Given the description of an element on the screen output the (x, y) to click on. 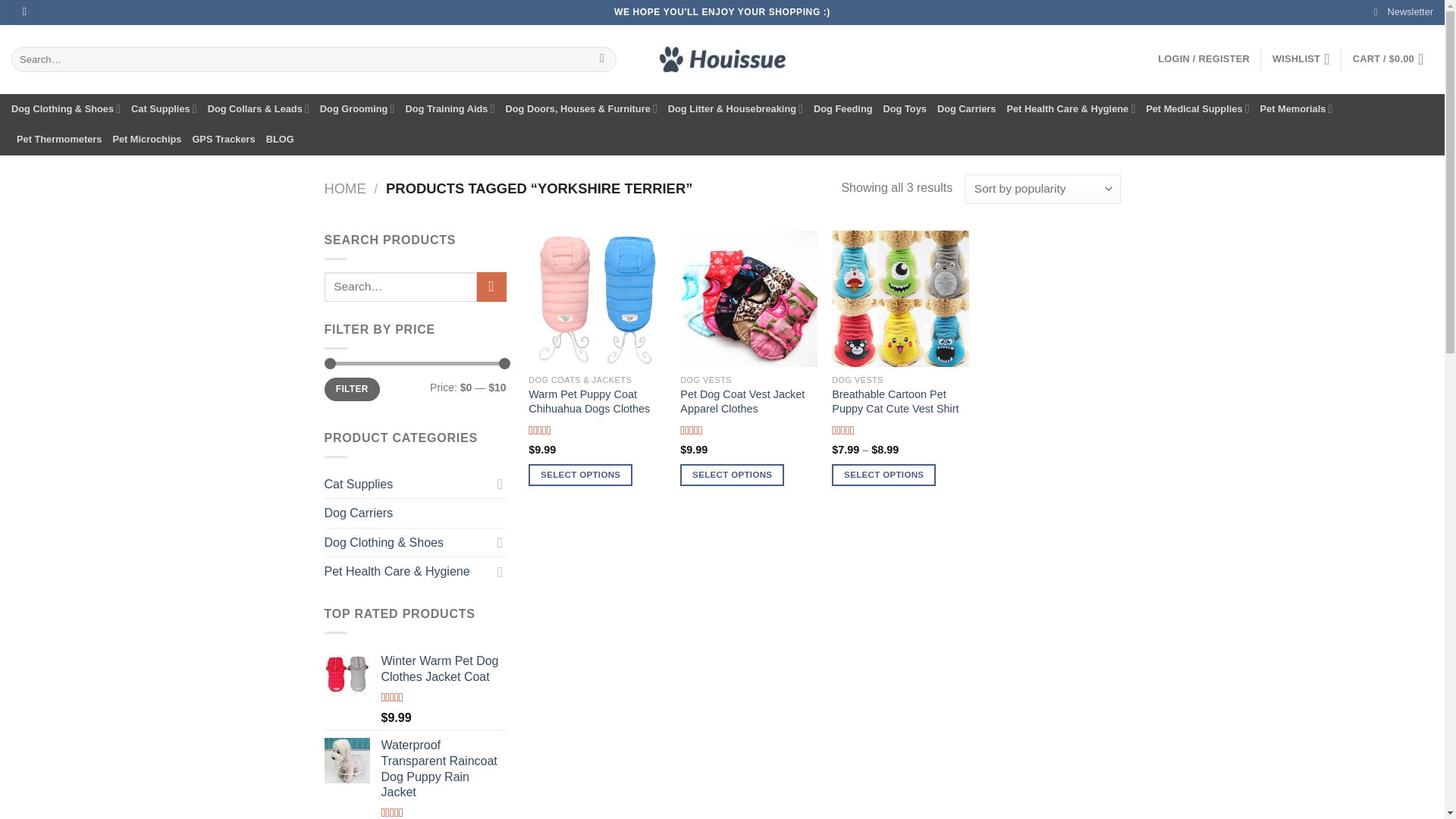
Newsletter (1403, 11)
Cat Supplies (163, 109)
Login (1203, 58)
Sign up for Newsletter (1403, 11)
Cart (1392, 59)
Wishlist (1301, 59)
Search (601, 58)
WISHLIST (1301, 59)
